Given the description of an element on the screen output the (x, y) to click on. 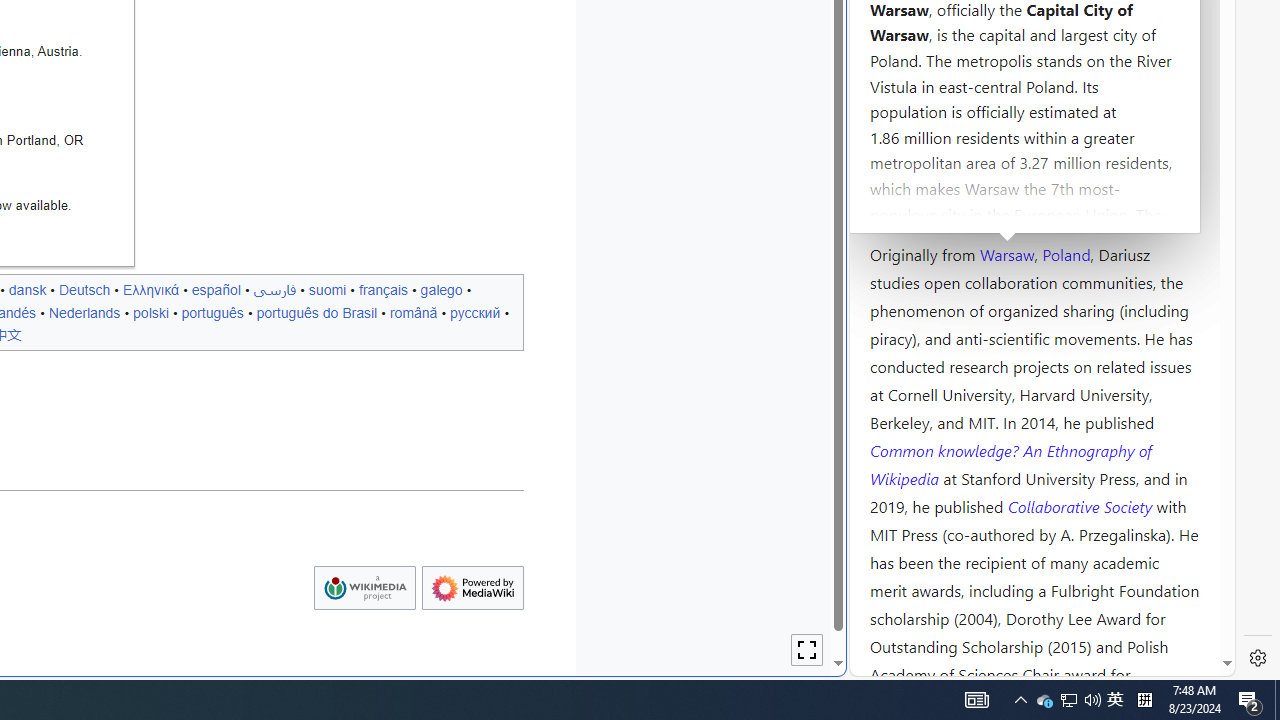
Poland (1065, 253)
polski (150, 312)
Toggle limited content width (807, 650)
Wikimedia Foundation (364, 588)
dansk (27, 289)
Warsaw (1006, 253)
Common knowledge? An Ethnography of Wikipedia (1010, 463)
Powered by MediaWiki (472, 588)
Harvard University (934, 205)
